Given the description of an element on the screen output the (x, y) to click on. 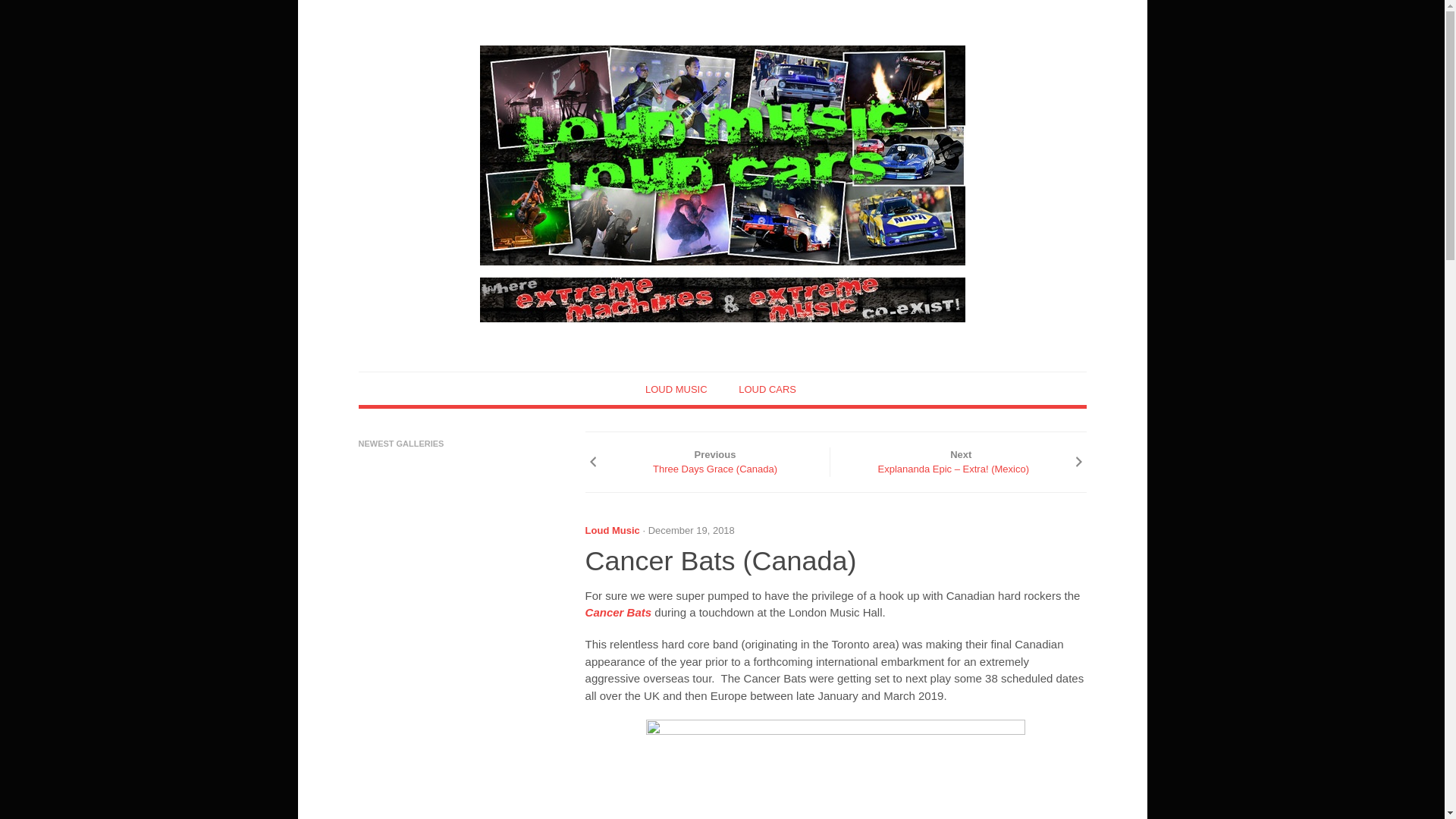
Loud Music (612, 530)
Cancer Bats (620, 612)
LOUD CARS (767, 389)
LOUD MUSIC (675, 389)
